Given the description of an element on the screen output the (x, y) to click on. 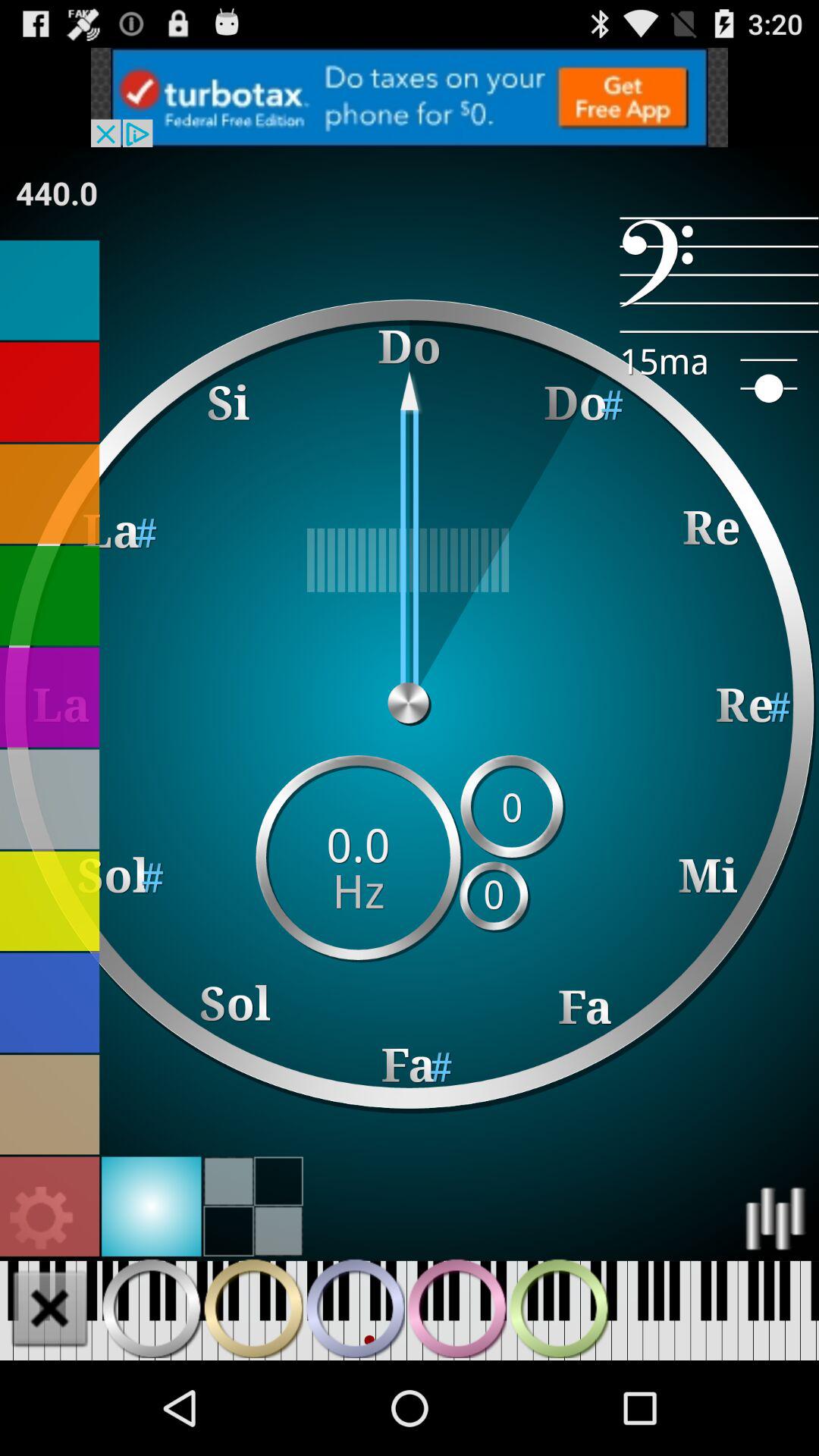
change color scheme (49, 1002)
